Given the description of an element on the screen output the (x, y) to click on. 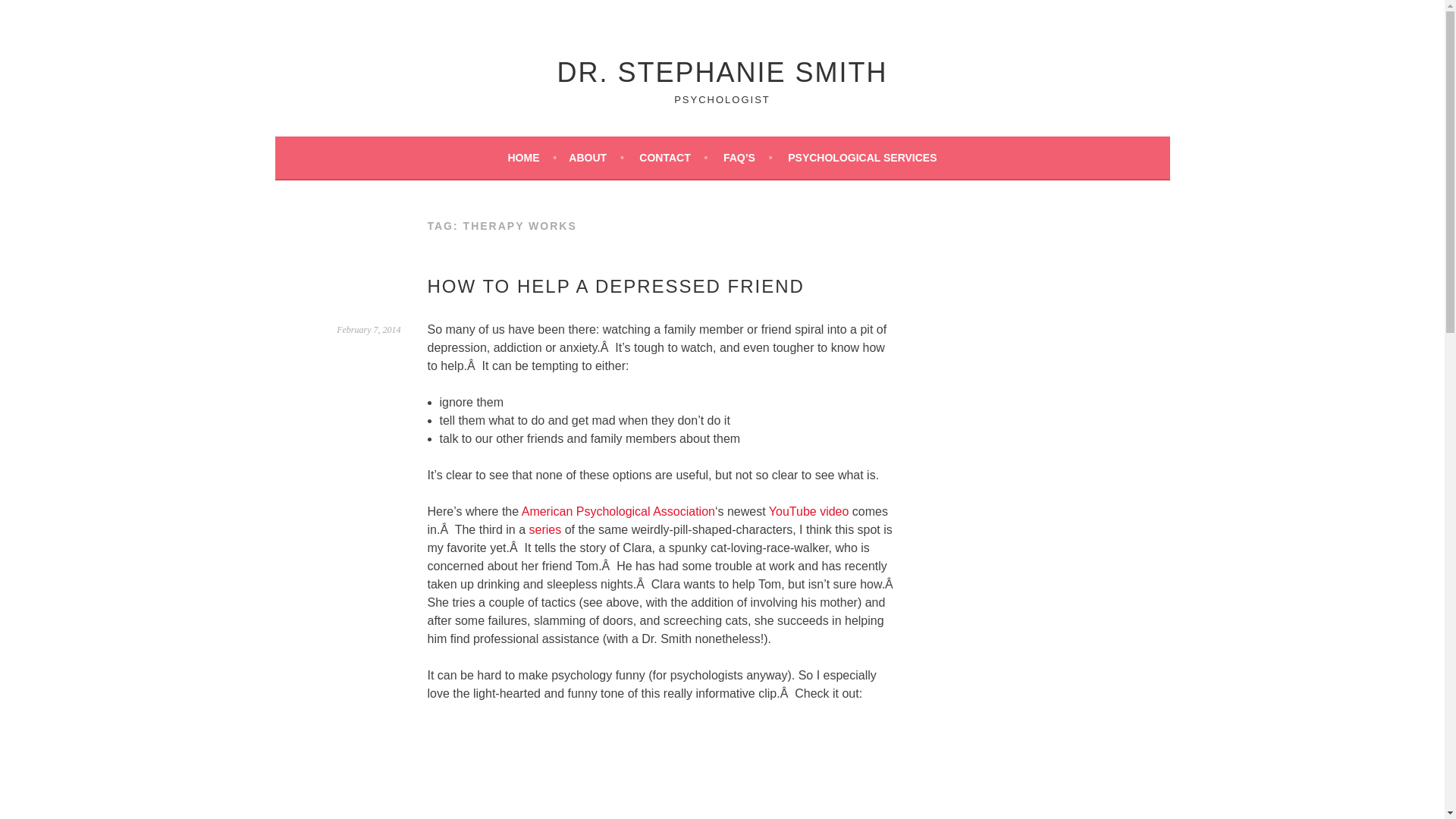
Permalink to How to Help a Depressed Friend (368, 329)
CONTACT (673, 157)
Dr. Stephanie Smith (721, 71)
HOW TO HELP A DEPRESSED FRIEND (616, 286)
February 7, 2014 (368, 329)
PSYCHOLOGICAL SERVICES (861, 157)
DR. STEPHANIE SMITH (721, 71)
American Psychological Association (617, 511)
series (545, 529)
YouTube video (808, 511)
HOME (531, 157)
Search (30, 13)
ABOUT (596, 157)
